Given the description of an element on the screen output the (x, y) to click on. 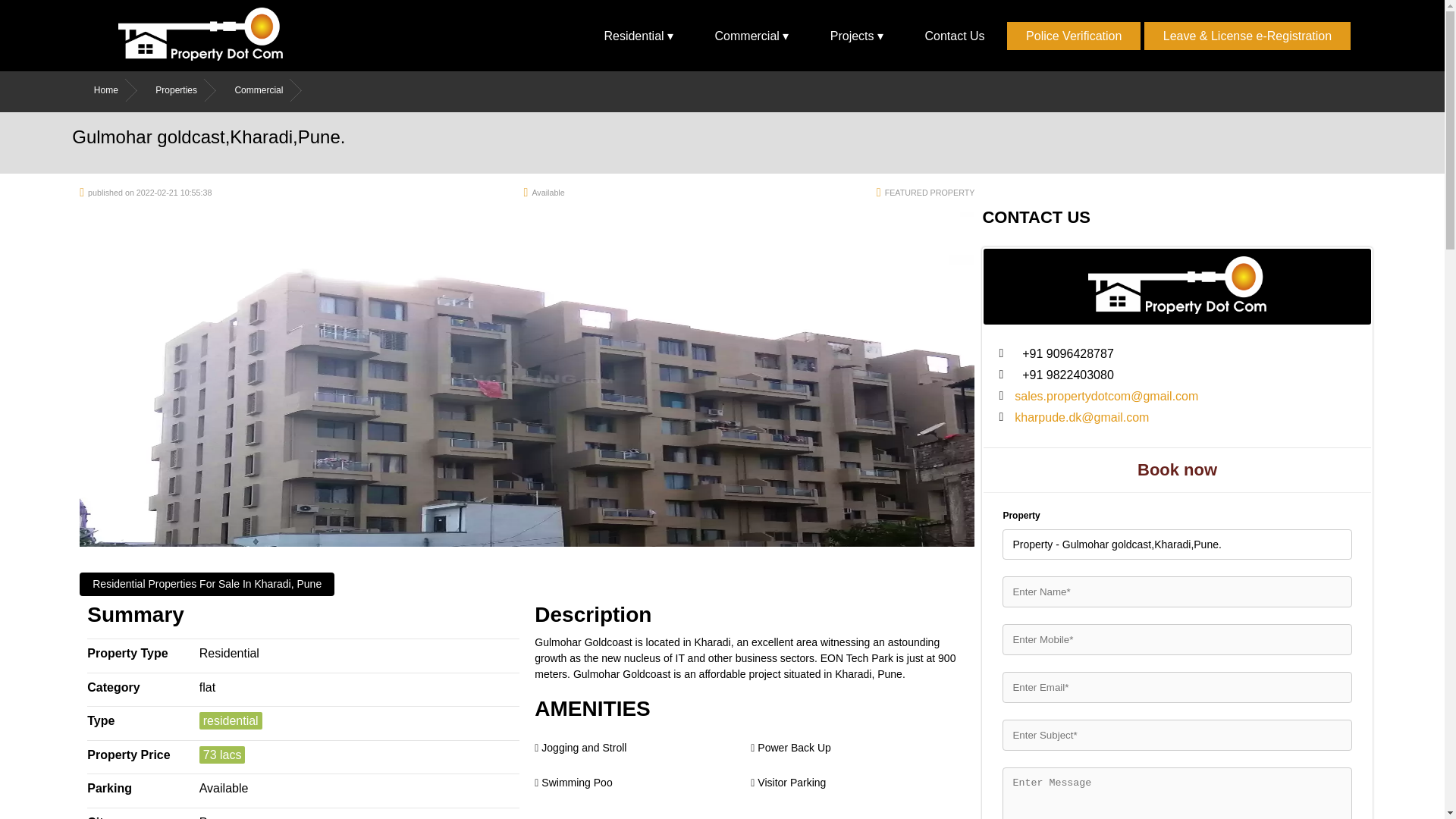
Properties (185, 89)
Property - Gulmohar goldcast,Kharadi,Pune. (1177, 544)
Residential Properties For Sale In Kharadi, Pune (207, 583)
Commercial (267, 89)
Police Verification (1073, 35)
Home (115, 89)
Contact Us (954, 35)
